Given the description of an element on the screen output the (x, y) to click on. 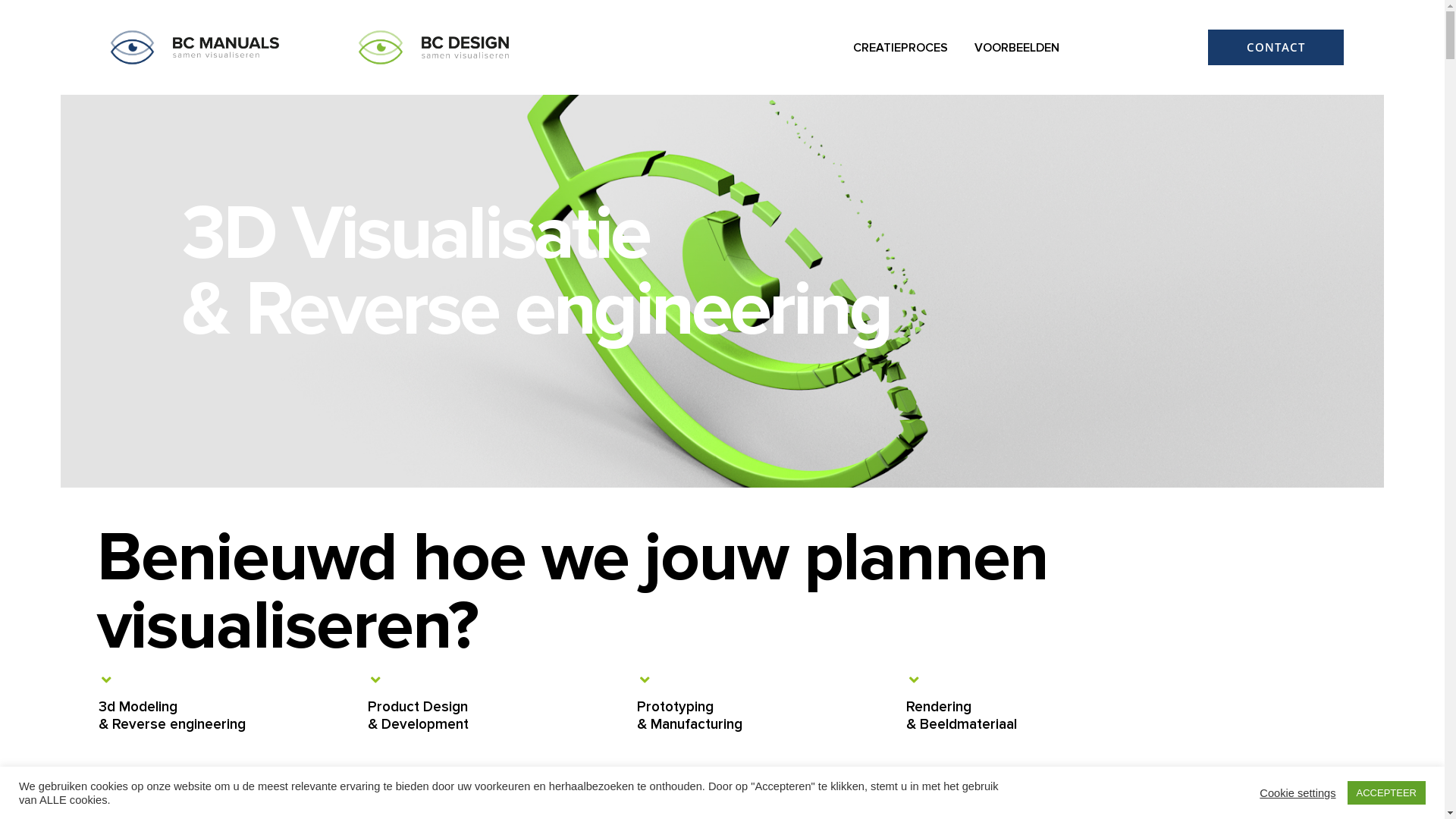
CREATIEPROCES Element type: text (900, 47)
Cookie settings Element type: text (1297, 792)
CONTACT Element type: text (1275, 47)
ACCEPTEER Element type: text (1386, 792)
VOORBEELDEN Element type: text (1016, 47)
